Given the description of an element on the screen output the (x, y) to click on. 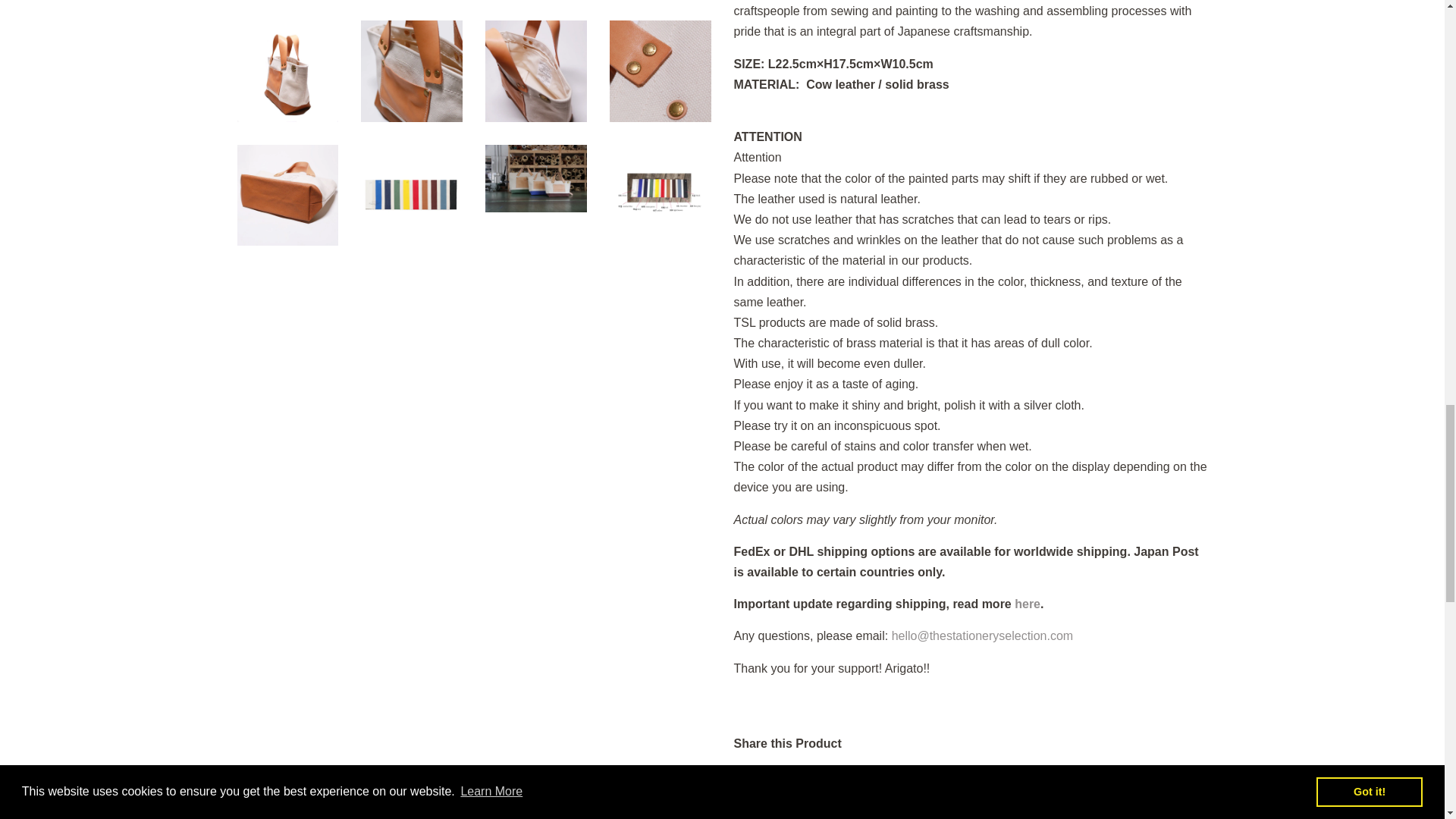
Pin on Pinterest (883, 776)
Share on Facebook (758, 776)
Tweet on Twitter (821, 776)
